Given the description of an element on the screen output the (x, y) to click on. 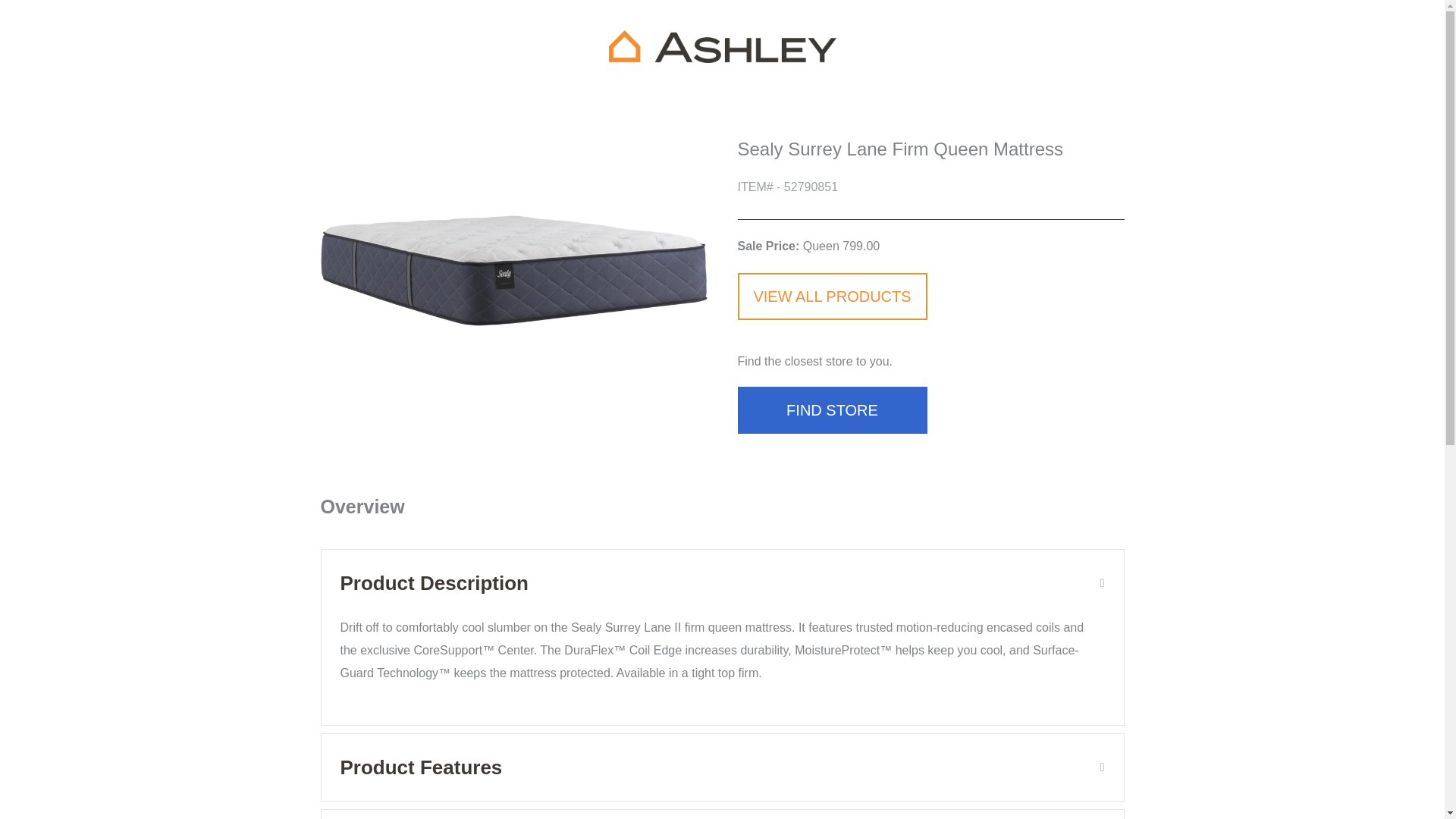
VIEW ALL PRODUCTS (831, 296)
Ashley-Logo (721, 46)
Product Features (708, 767)
FIND STORE (831, 410)
Product Description (708, 583)
